Given the description of an element on the screen output the (x, y) to click on. 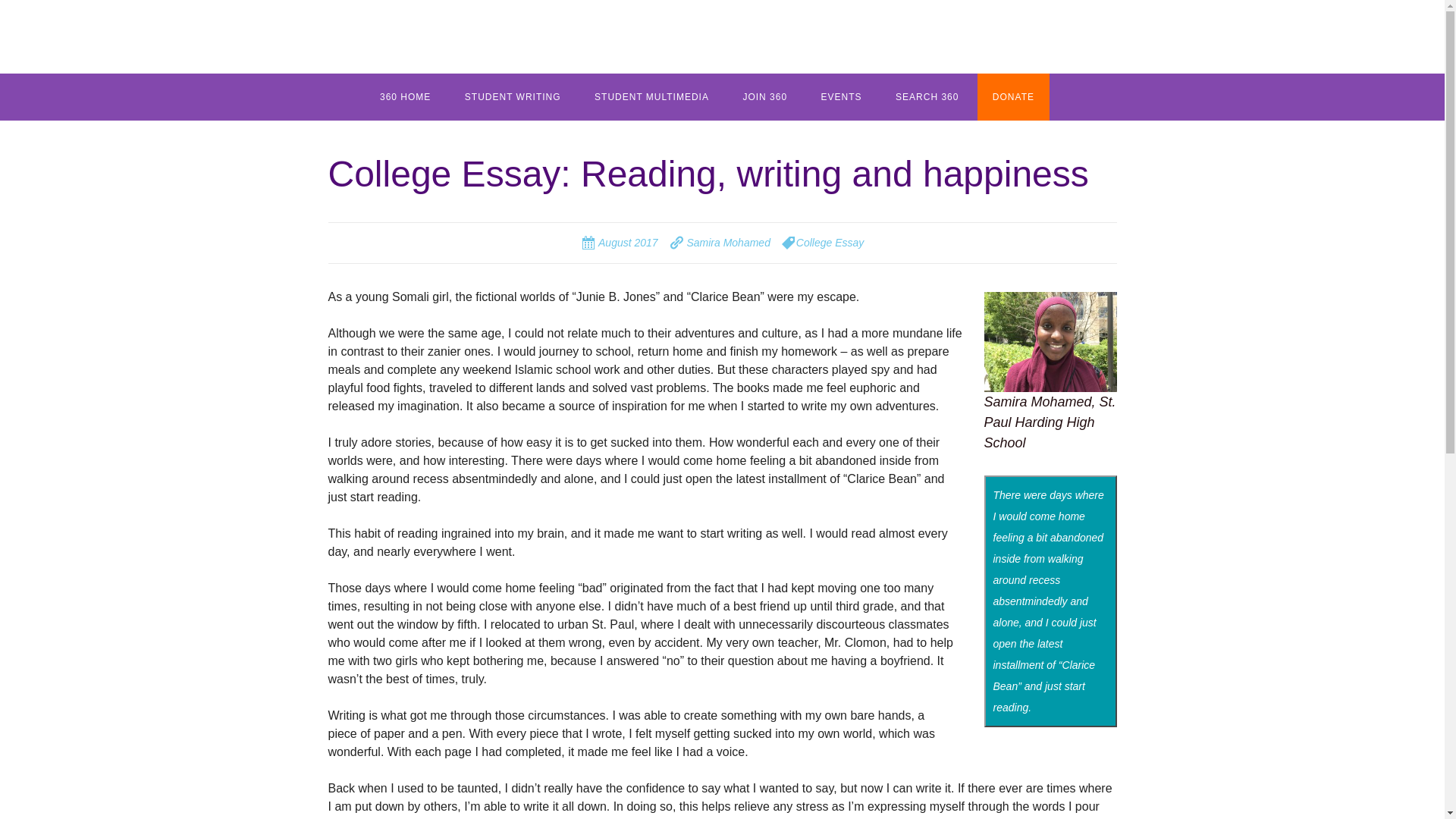
ONLINE (525, 143)
STUDENT WRITING (512, 96)
TV BROADCAST (654, 143)
SUMMER PROGRAMS (802, 143)
STUDENT MULTIMEDIA (651, 96)
ABOUT 360 (440, 143)
JOIN 360 (764, 96)
360 HOME (405, 96)
DONATE (1012, 96)
EVENTS (841, 96)
SEARCH 360 (927, 96)
